Given the description of an element on the screen output the (x, y) to click on. 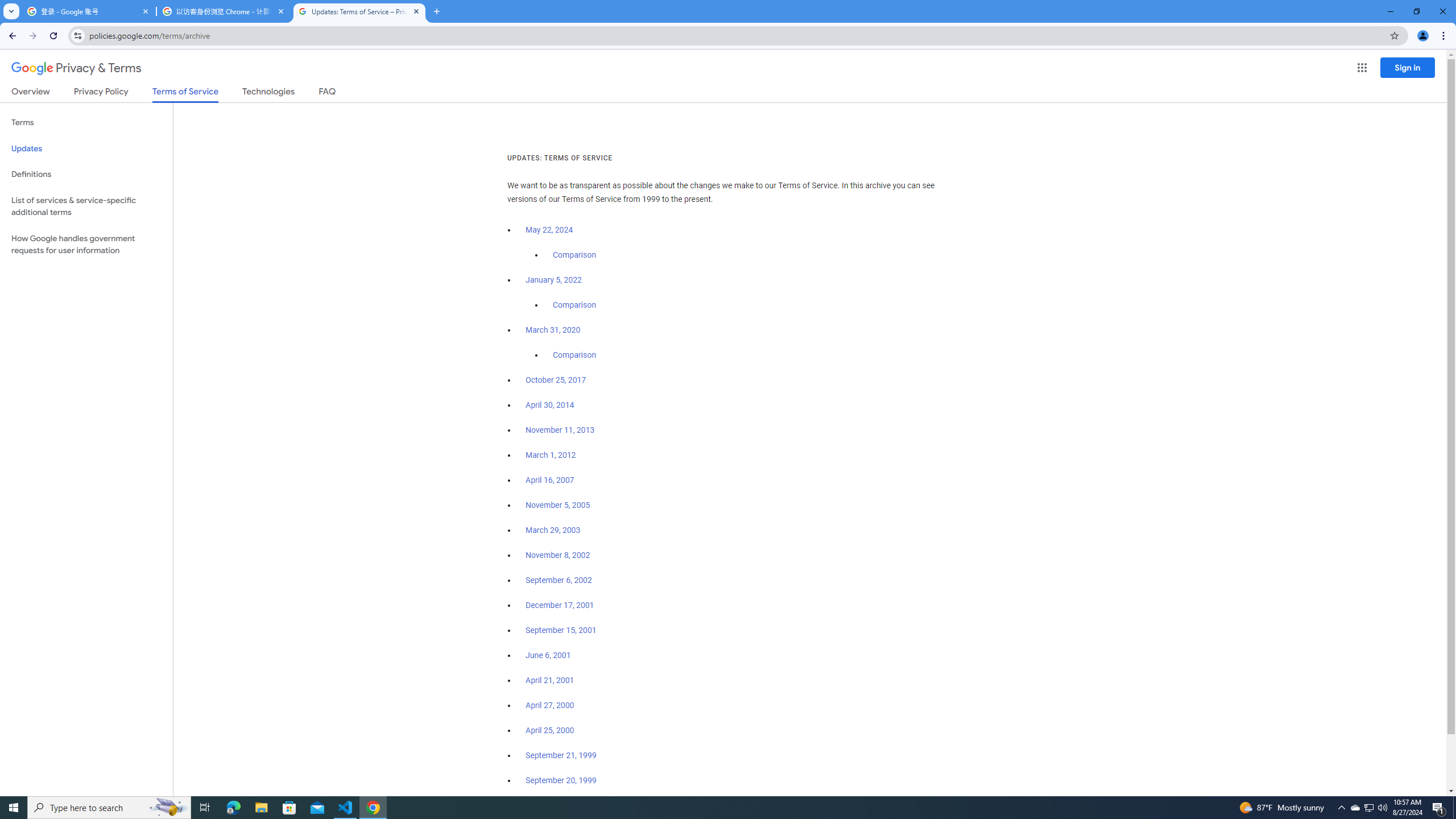
November 11, 2013 (560, 430)
October 25, 2017 (555, 380)
April 25, 2000 (550, 729)
April 30, 2014 (550, 405)
March 29, 2003 (552, 530)
